Given the description of an element on the screen output the (x, y) to click on. 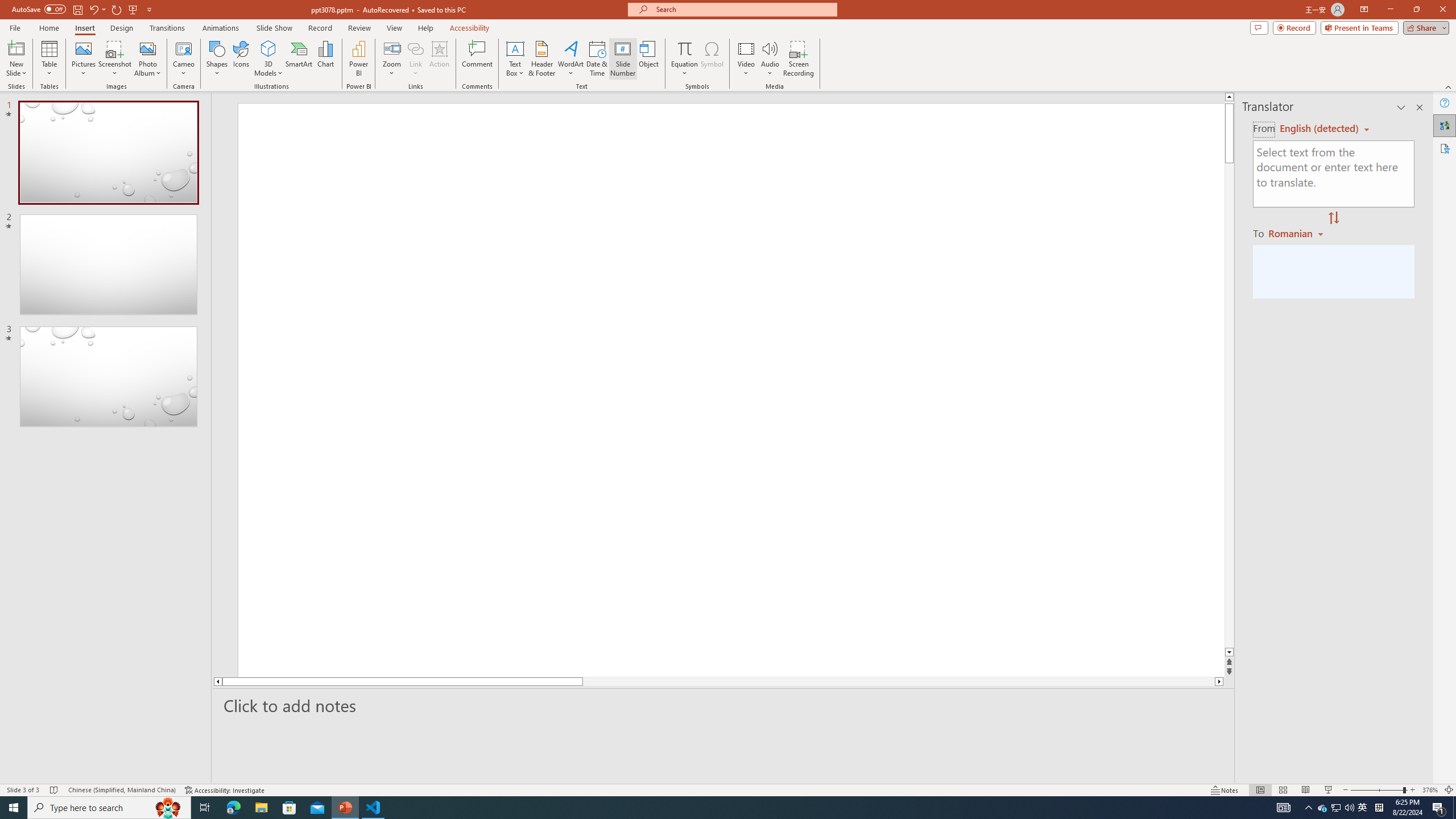
Symbol... (711, 58)
Romanian (1296, 232)
